Given the description of an element on the screen output the (x, y) to click on. 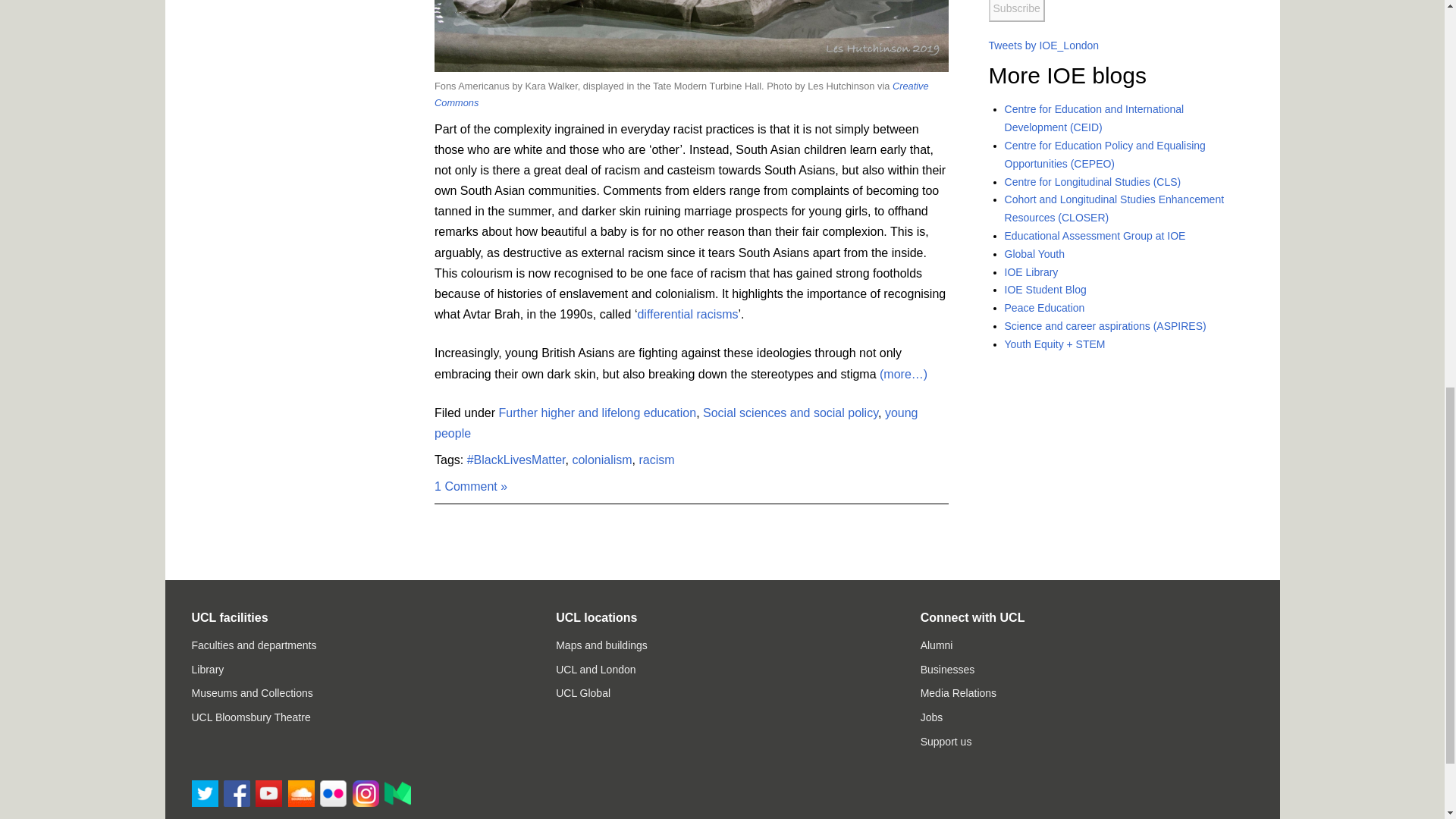
colonialism (601, 459)
Creative Commons (680, 94)
differential racisms (687, 314)
Social sciences and social policy (790, 412)
Further higher and lifelong education (598, 412)
young people (675, 422)
Subscribe (1016, 11)
Subscribe (1016, 11)
racism (656, 459)
